Given the description of an element on the screen output the (x, y) to click on. 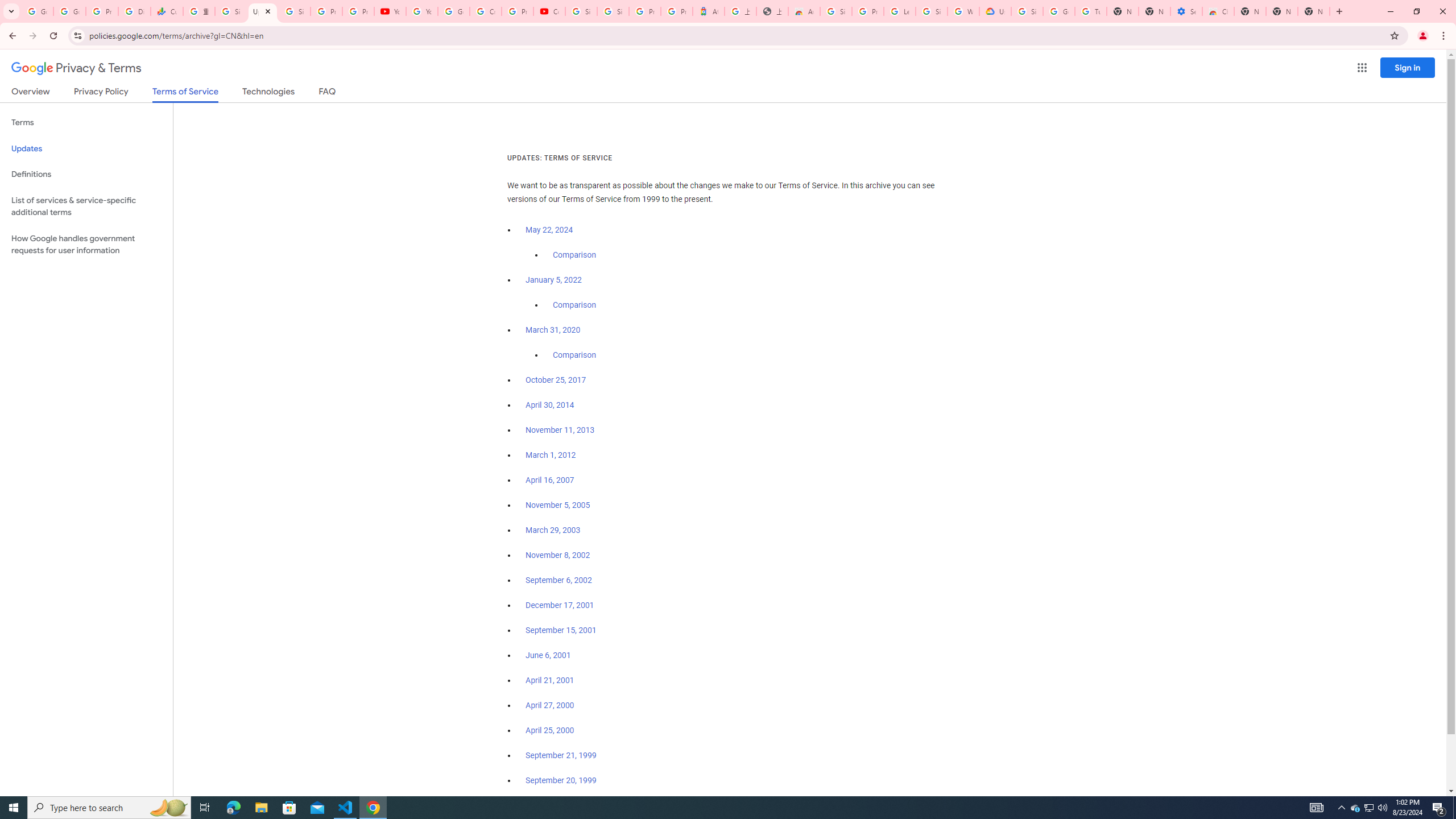
Turn cookies on or off - Computer - Google Account Help (1091, 11)
April 30, 2014 (550, 405)
Chrome Web Store - Accessibility extensions (1217, 11)
April 16, 2007 (550, 480)
Definitions (86, 174)
April 27, 2000 (550, 705)
